Given the description of an element on the screen output the (x, y) to click on. 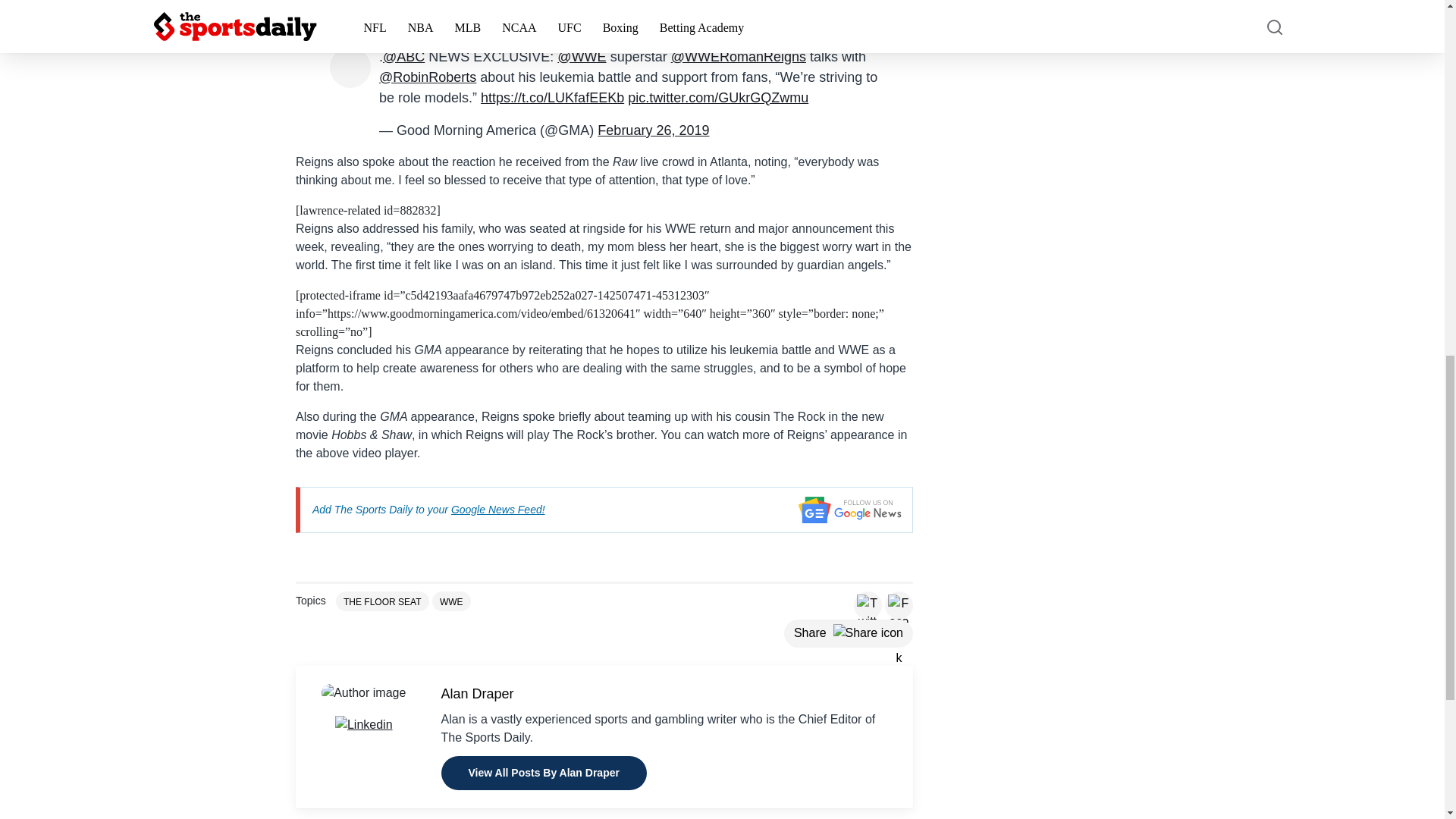
THE FLOOR SEAT (382, 600)
February 26, 2019 (652, 130)
Share   (848, 633)
View All Posts By Alan Draper (543, 772)
Google News Feed! (497, 509)
WWE (451, 600)
